Given the description of an element on the screen output the (x, y) to click on. 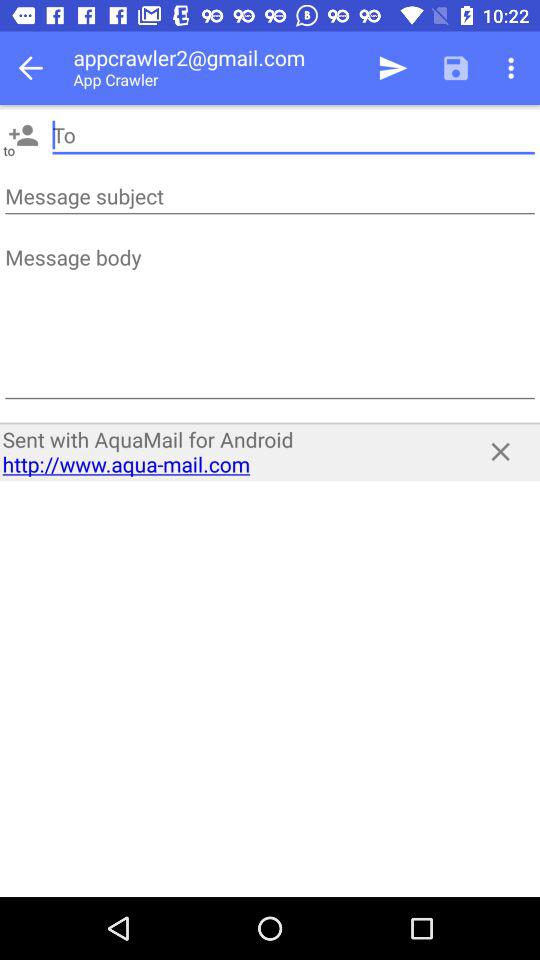
launch the app to the left of the appcrawler2@gmail.com (36, 68)
